Given the description of an element on the screen output the (x, y) to click on. 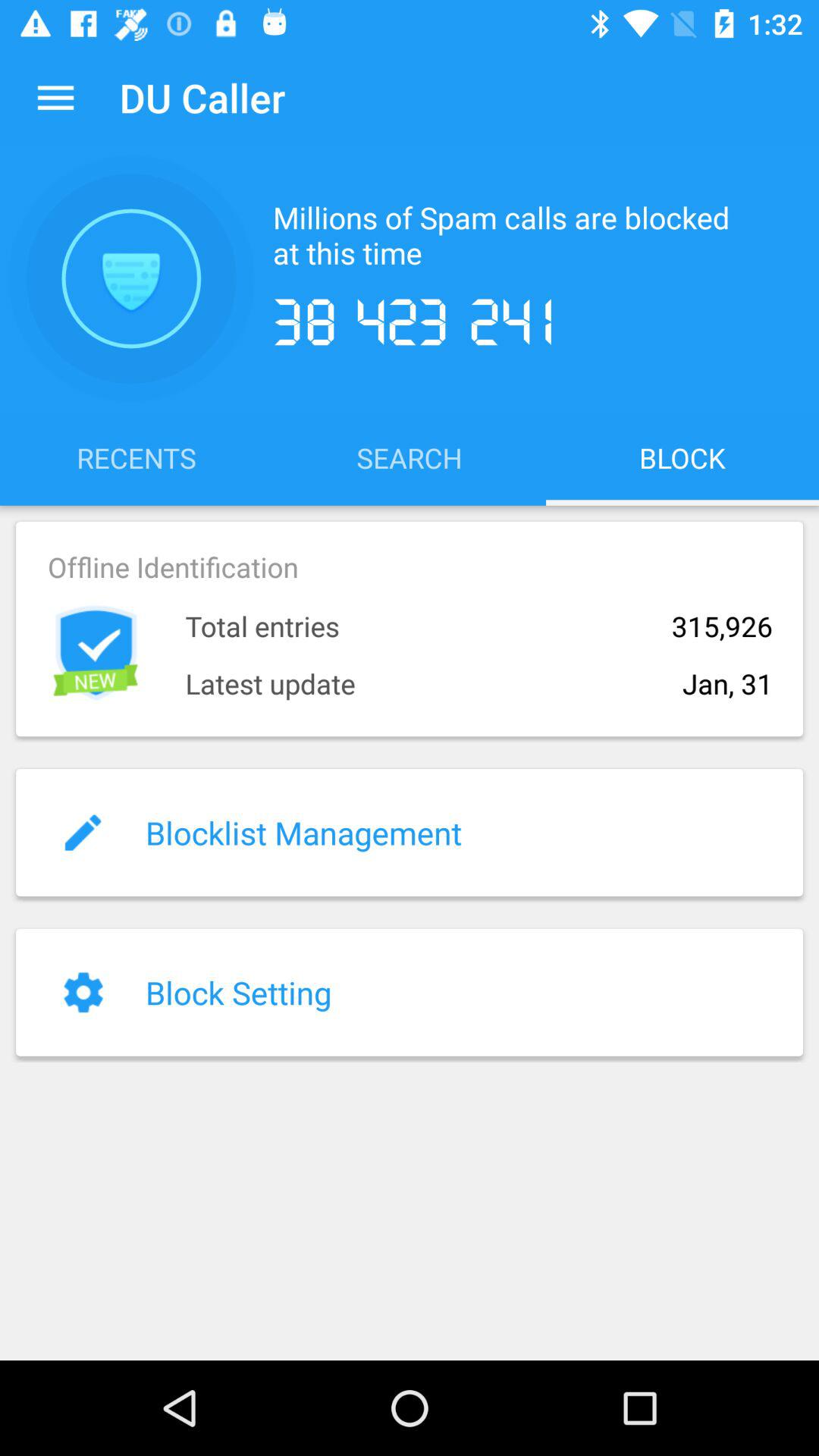
select item below the 38 423 244 (409, 457)
